Given the description of an element on the screen output the (x, y) to click on. 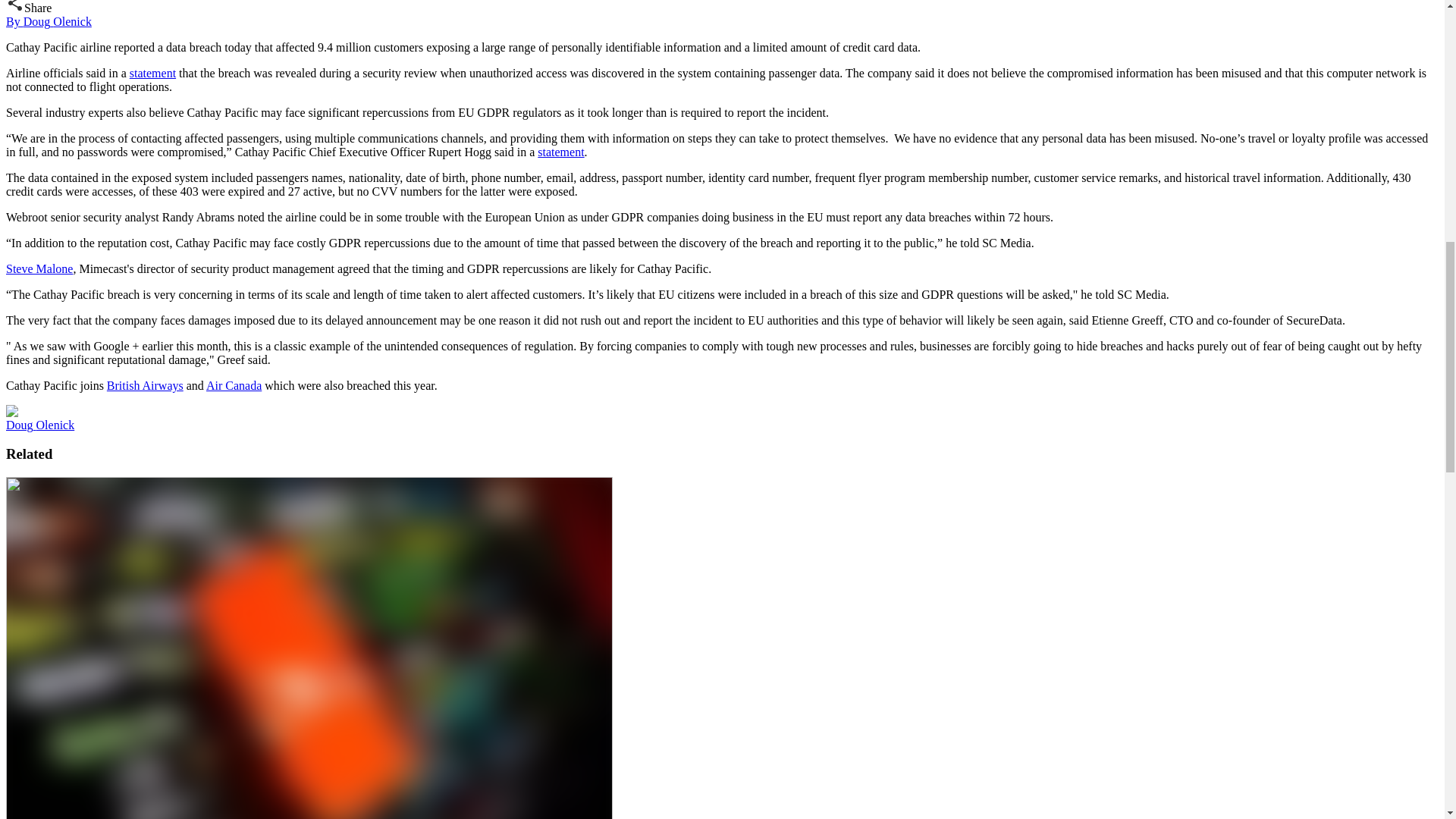
statement (560, 151)
British Airways (144, 385)
By Doug Olenick (48, 21)
statement (152, 72)
Doug Olenick (39, 424)
Air Canada (234, 385)
Steve Malone (38, 268)
